Given the description of an element on the screen output the (x, y) to click on. 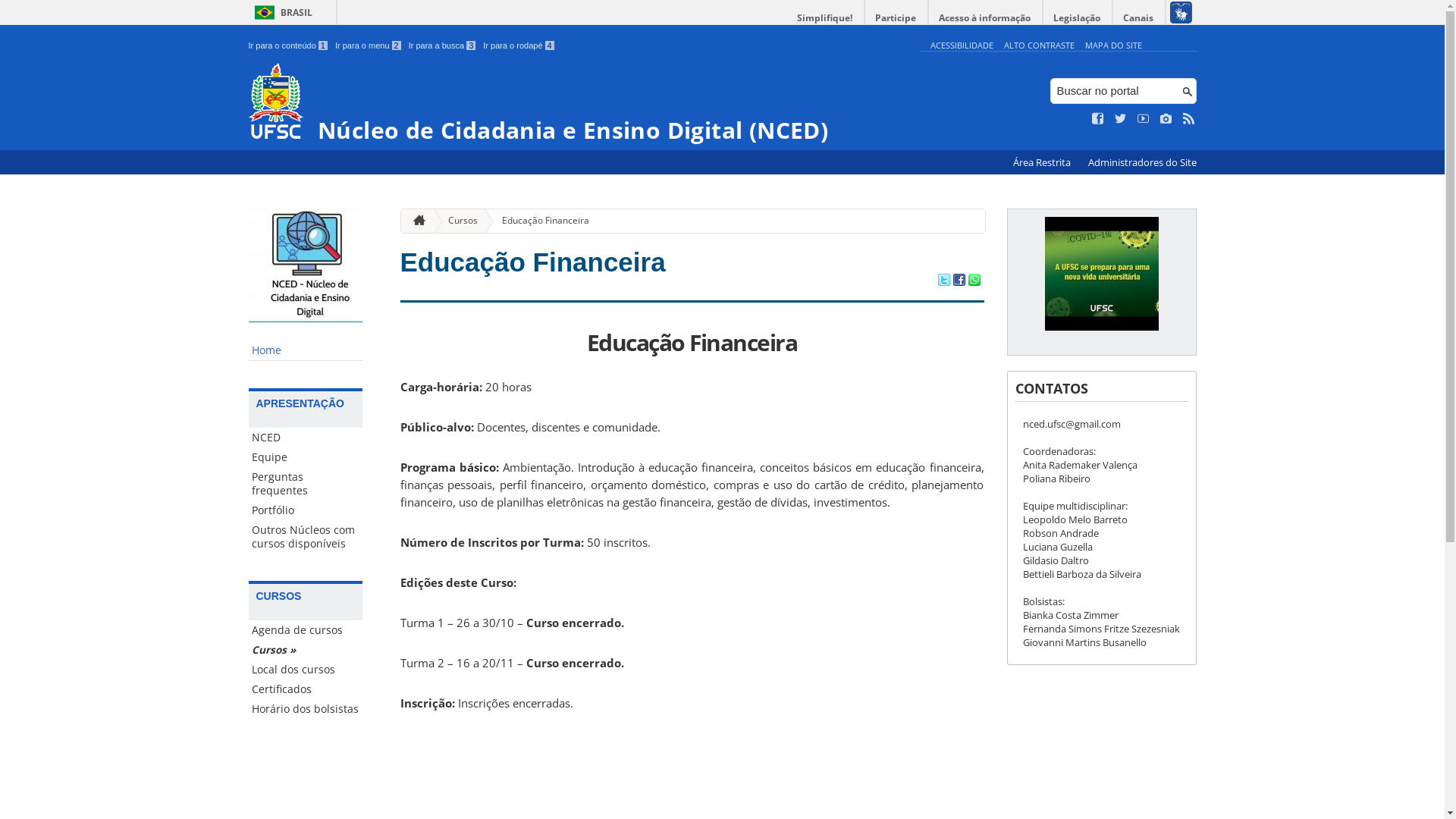
Canais Element type: text (1138, 18)
Simplifique! Element type: text (825, 18)
Administradores do Site Element type: text (1141, 162)
Siga no Twitter Element type: hover (1120, 118)
Certificados Element type: text (305, 689)
Home Element type: text (305, 350)
NCED Element type: text (305, 437)
Perguntas frequentes Element type: text (305, 483)
Equipe Element type: text (305, 457)
ACESSIBILIDADE Element type: text (960, 44)
Ir para o menu 2 Element type: text (368, 45)
MAPA DO SITE Element type: text (1112, 44)
ALTO CONTRASTE Element type: text (1039, 44)
Compartilhar no Twitter Element type: hover (943, 280)
Participe Element type: text (895, 18)
Cursos Element type: text (456, 220)
Local dos cursos Element type: text (305, 669)
Ir para a busca 3 Element type: text (442, 45)
Compartilhar no WhatsApp Element type: hover (973, 280)
Curta no Facebook Element type: hover (1098, 118)
Compartilhar no Facebook Element type: hover (958, 280)
Agenda de cursos Element type: text (305, 630)
Veja no Instagram Element type: hover (1166, 118)
BRASIL Element type: text (280, 12)
